Given the description of an element on the screen output the (x, y) to click on. 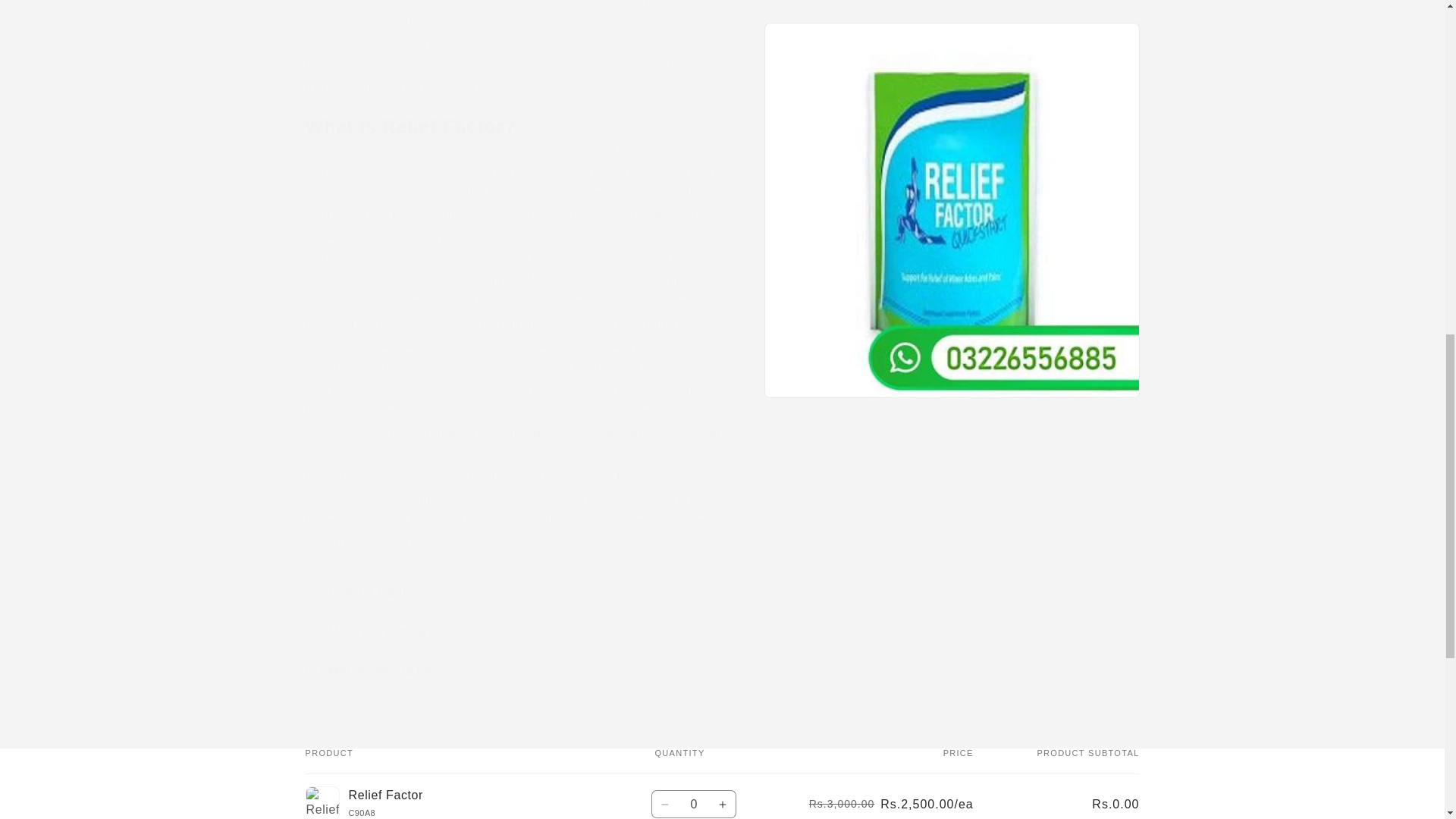
0 (693, 804)
Increase quantity for Default Title (723, 804)
Decrease quantity for Default Title (665, 804)
